Given the description of an element on the screen output the (x, y) to click on. 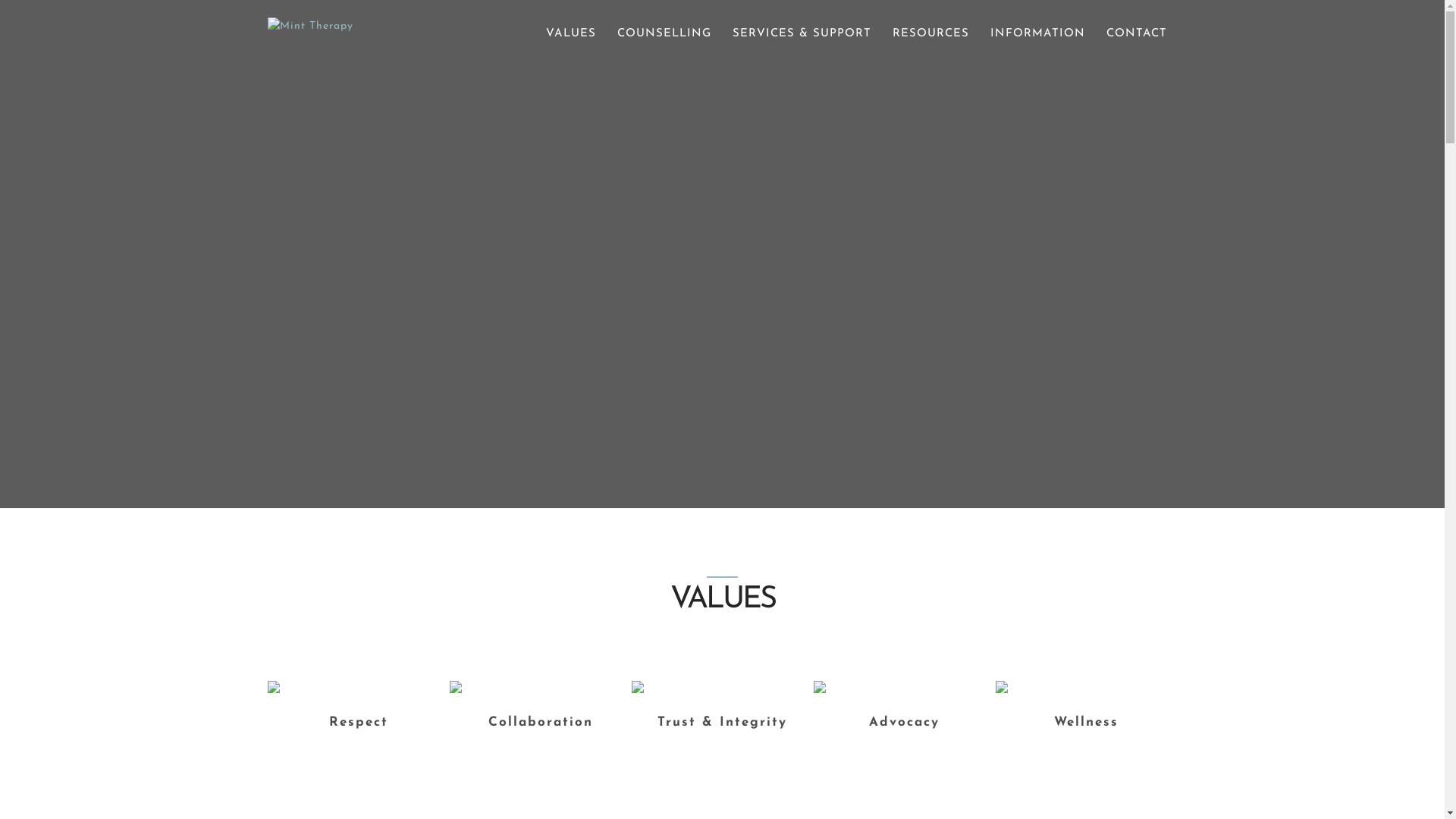
INFORMATION Element type: text (1037, 33)
VALUES Element type: text (570, 33)
RESOURCES Element type: text (930, 33)
SERVICES & SUPPORT Element type: text (801, 33)
CONTACT Element type: text (1135, 33)
COUNSELLING Element type: text (663, 33)
